Given the description of an element on the screen output the (x, y) to click on. 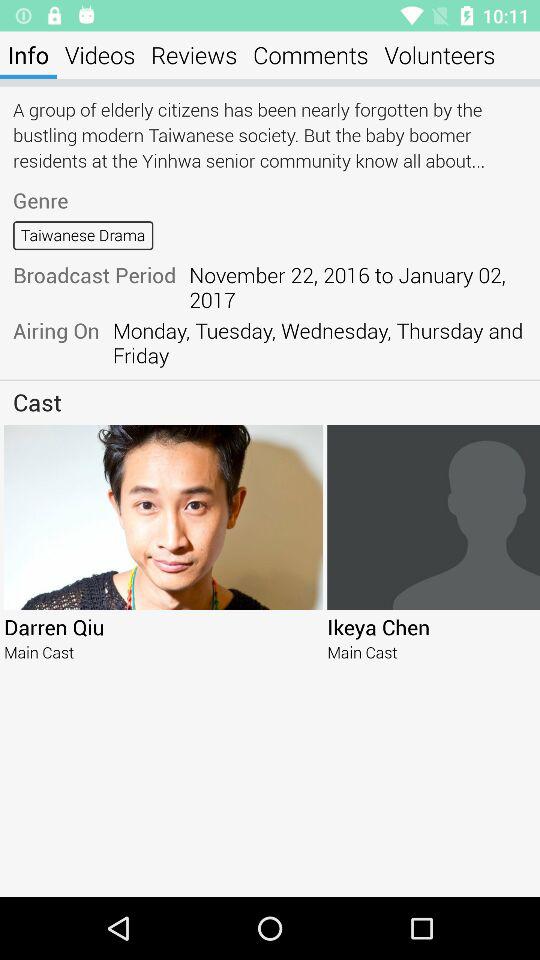
turn on icon at the top right corner (439, 54)
